Given the description of an element on the screen output the (x, y) to click on. 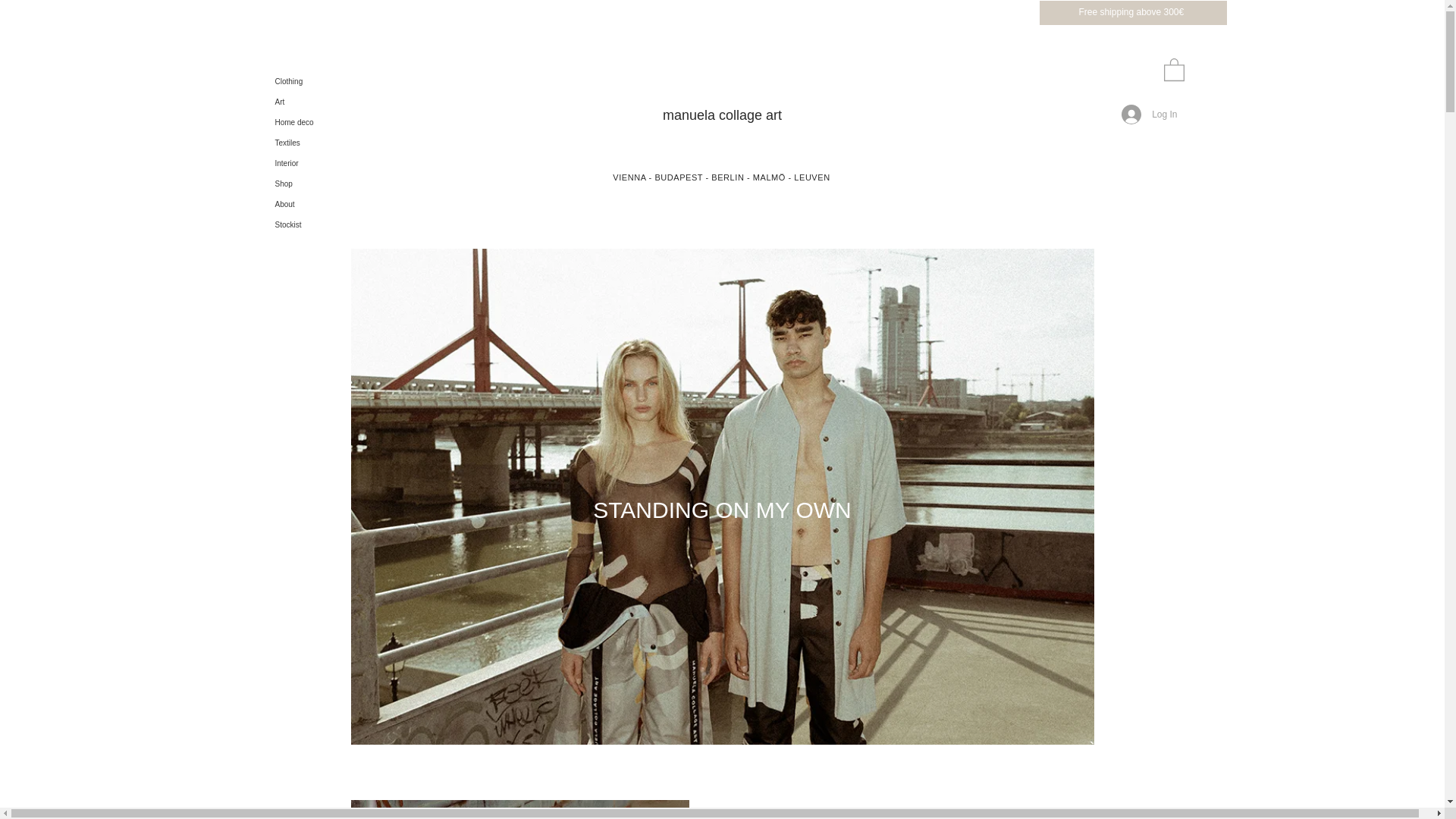
collage (742, 114)
Clothing (312, 81)
Stockist (312, 224)
manuela (690, 114)
Interior (312, 163)
Log In (1149, 113)
STANDING ON MY OWN (721, 509)
art (773, 114)
Home deco (312, 122)
About (312, 204)
